Given the description of an element on the screen output the (x, y) to click on. 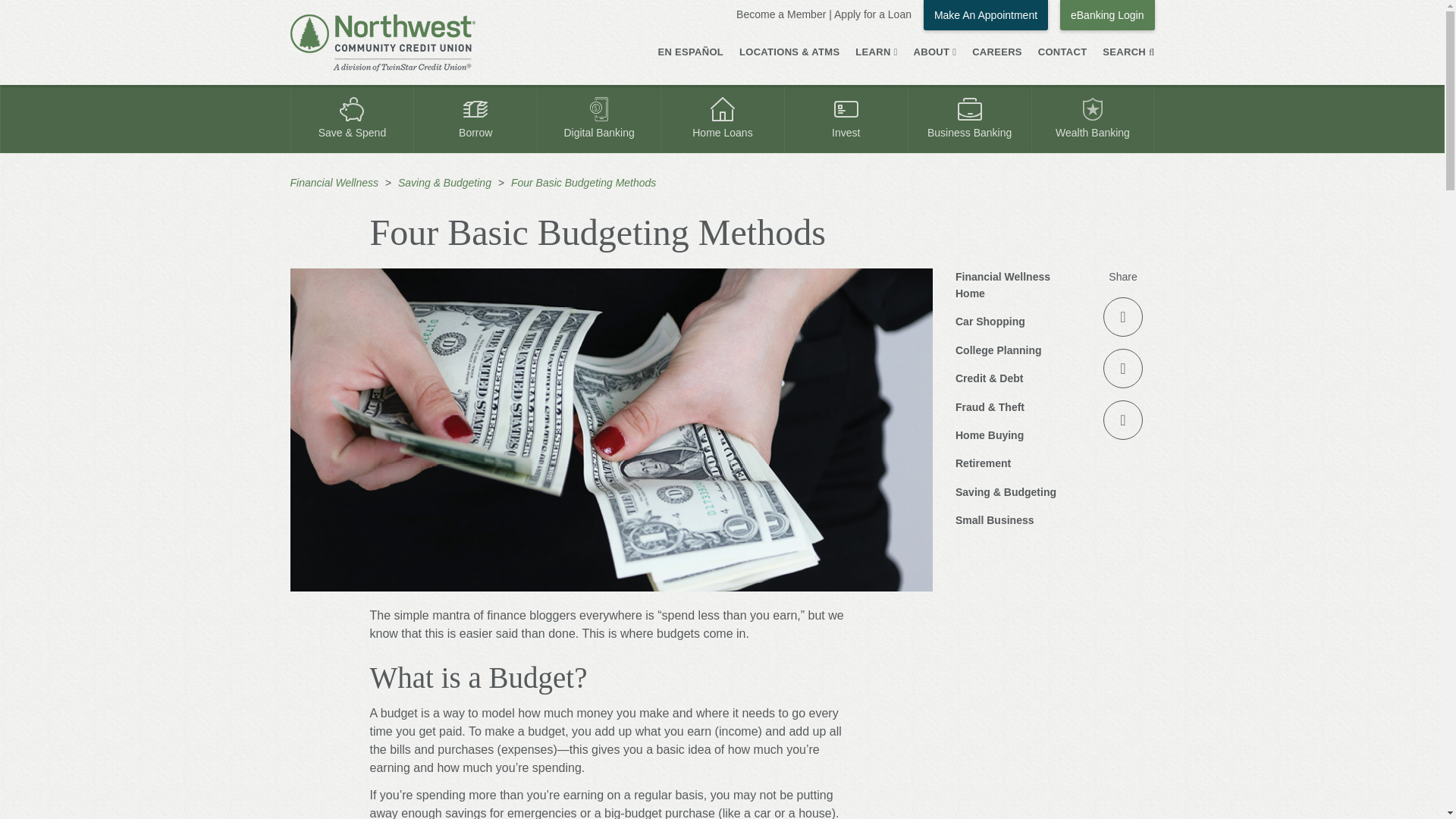
CAREERS (997, 52)
Apply for a Loan (872, 14)
CONTACT (1062, 52)
Make An Appointment (985, 15)
Home (381, 42)
Become a Member (780, 14)
Make An Appointment (985, 15)
eBanking Login (1106, 15)
Become a Member (780, 14)
Apply for a Loan (872, 14)
Member Login (1106, 15)
